Given the description of an element on the screen output the (x, y) to click on. 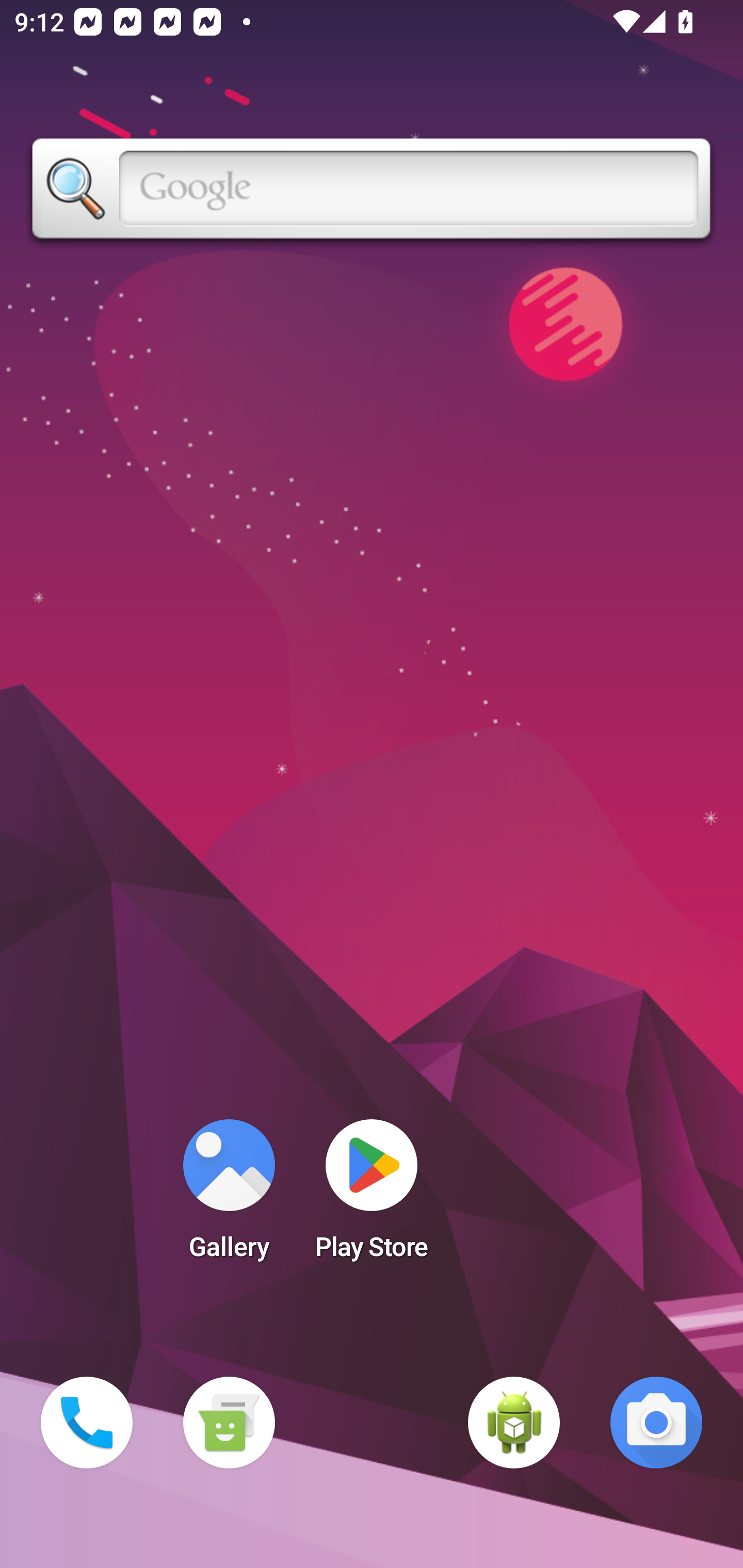
Gallery (228, 1195)
Play Store (371, 1195)
Phone (86, 1422)
Messaging (228, 1422)
WebView Browser Tester (513, 1422)
Camera (656, 1422)
